Given the description of an element on the screen output the (x, y) to click on. 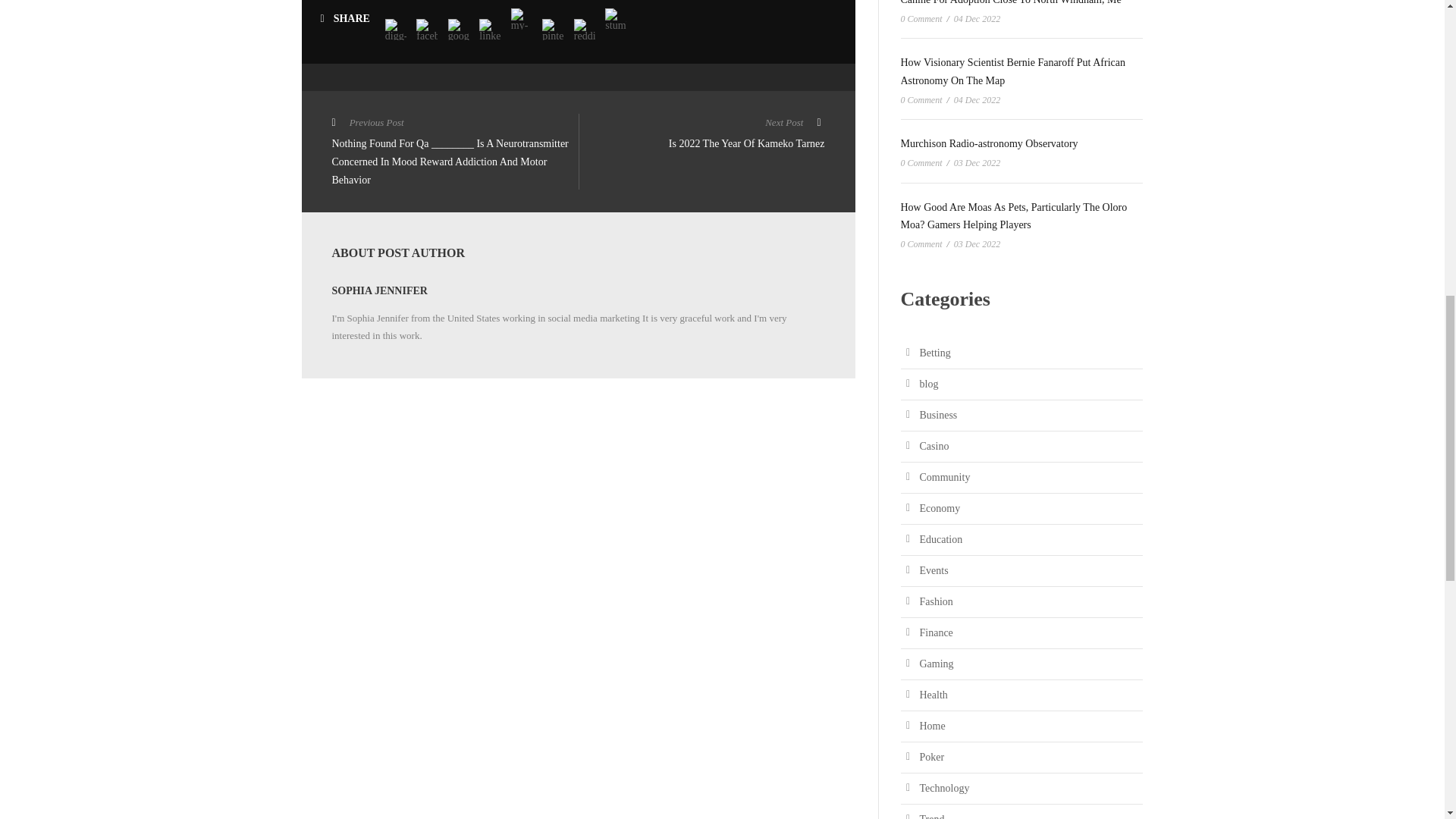
SOPHIA JENNIFER (701, 135)
Posts by Sophia Jennifer (379, 290)
